Given the description of an element on the screen output the (x, y) to click on. 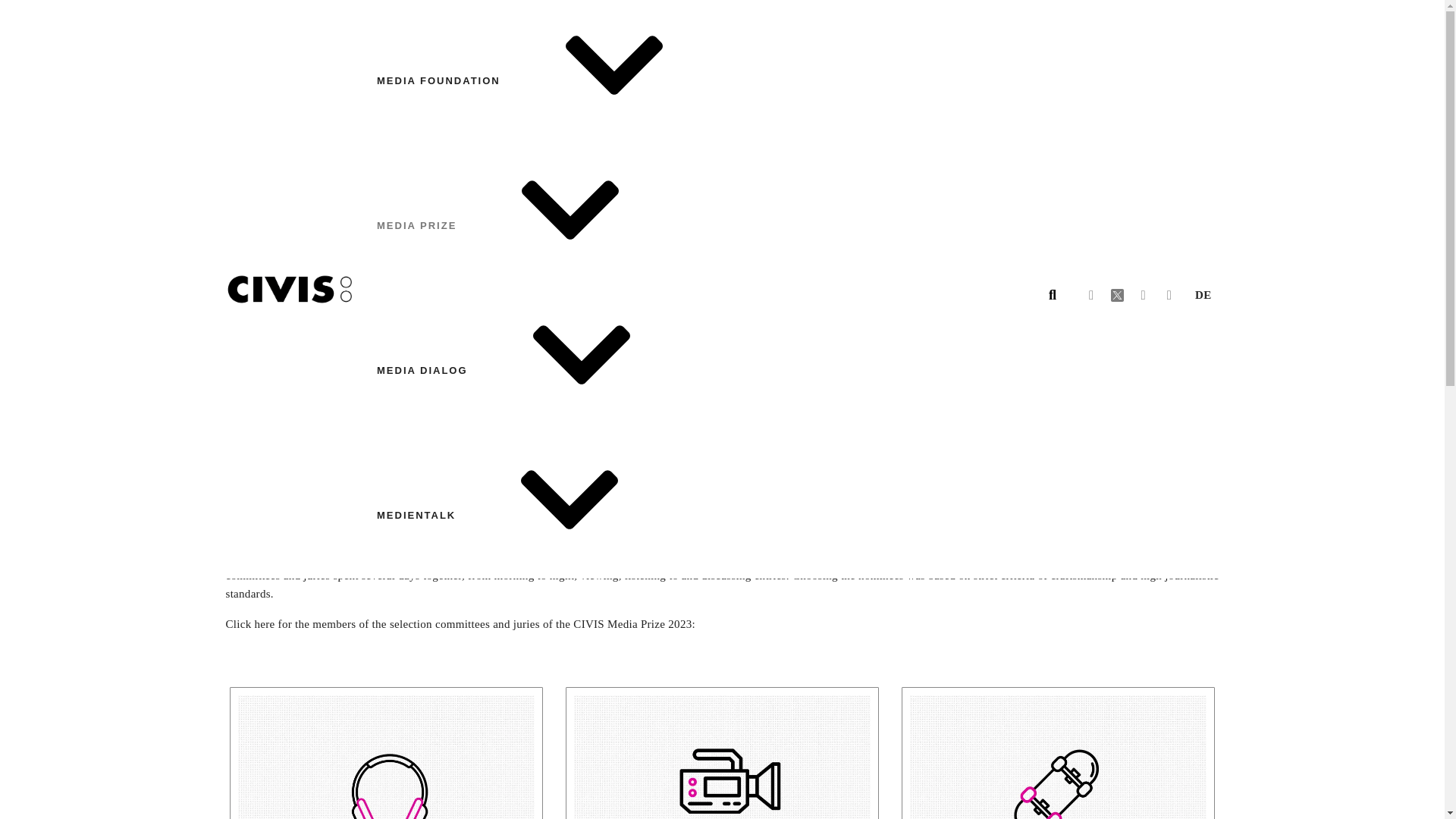
MEDIA PRIZE (530, 225)
MEDIA FOUNDATION (552, 80)
DE (1202, 294)
